Given the description of an element on the screen output the (x, y) to click on. 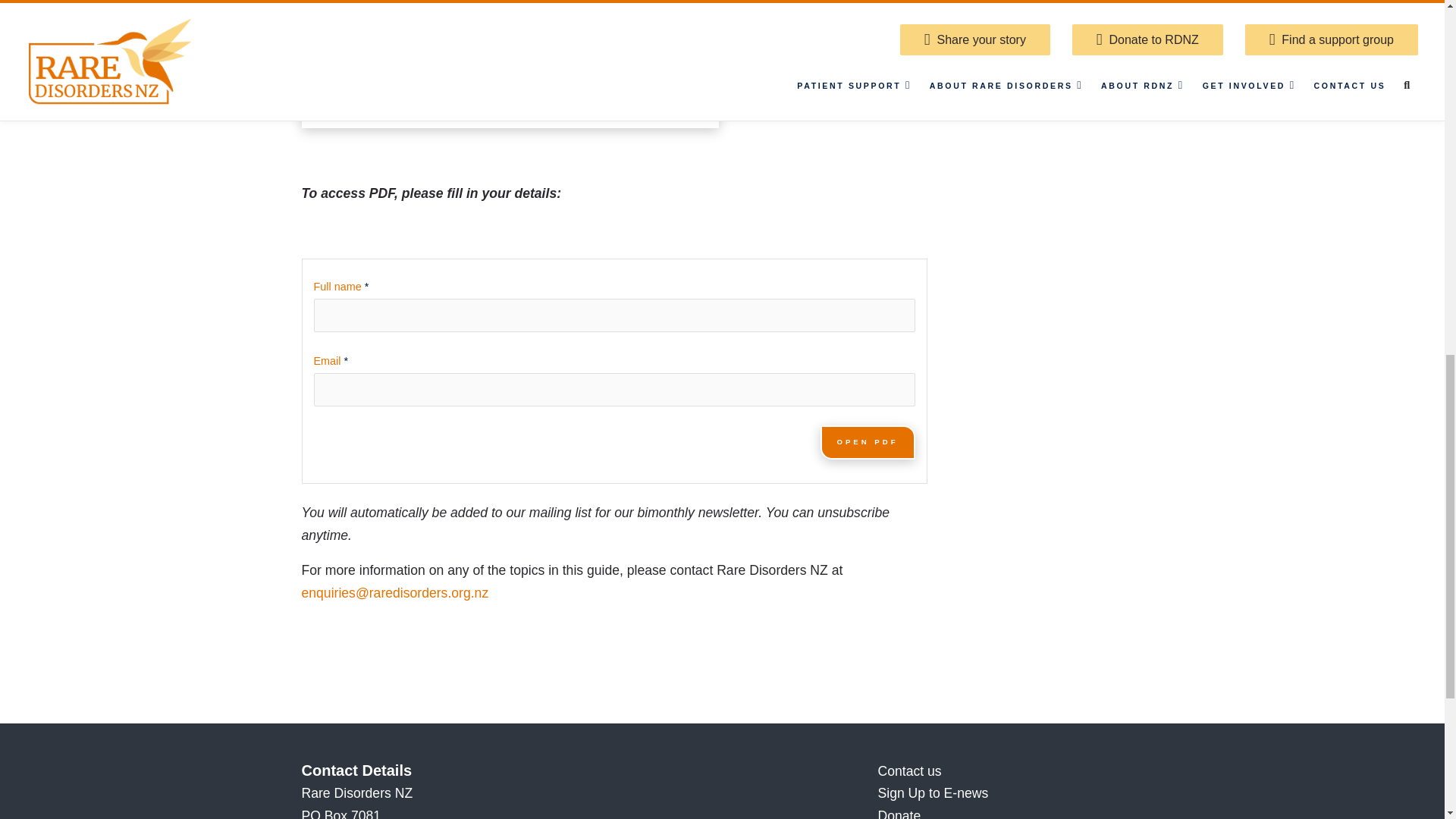
Rare Disorders Guide Launch (510, 63)
Open PDF (868, 442)
Go to the Advocating for yourself and others page (1046, 18)
